Given the description of an element on the screen output the (x, y) to click on. 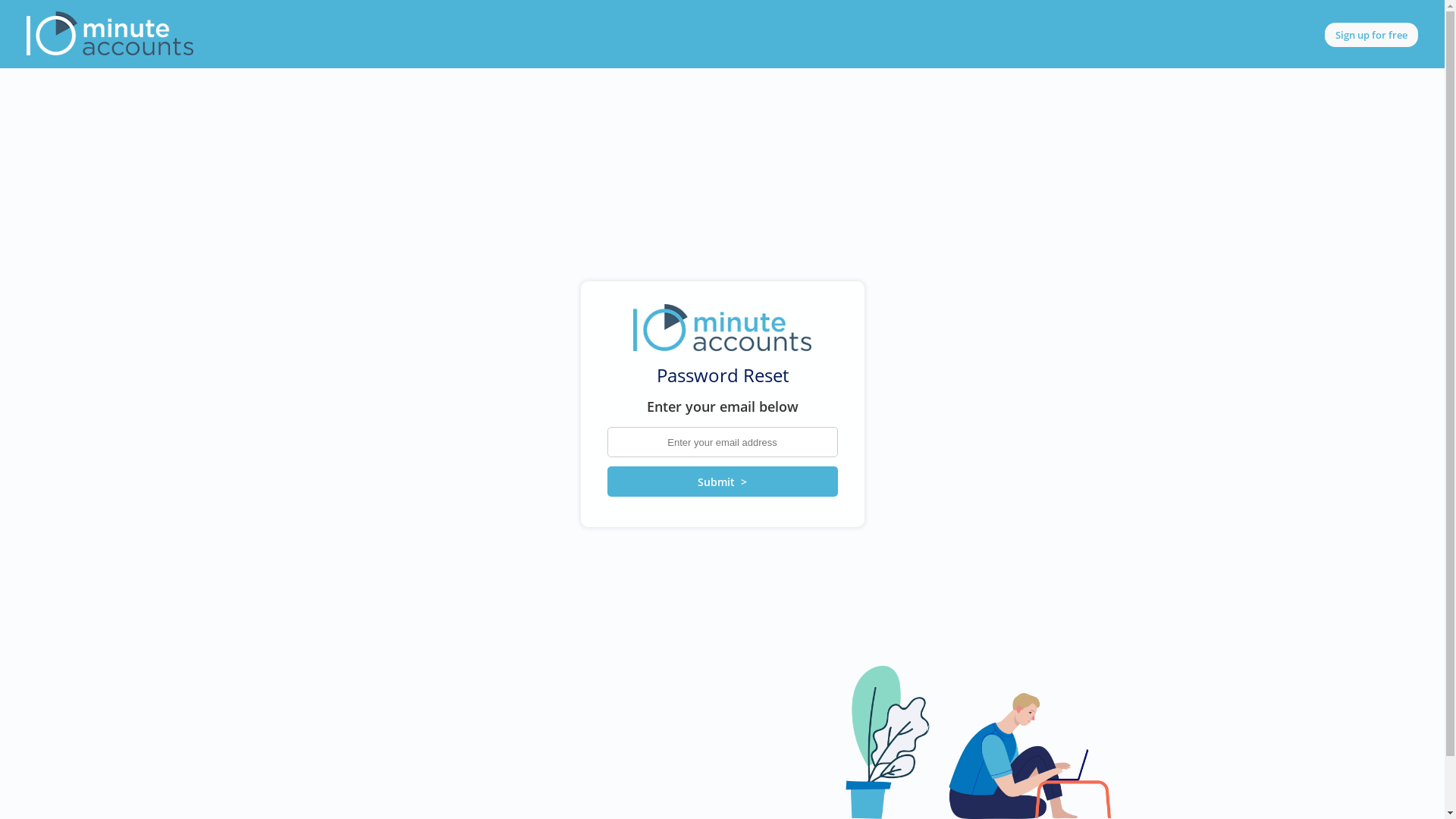
Sign up for free Element type: text (1371, 34)
